Given the description of an element on the screen output the (x, y) to click on. 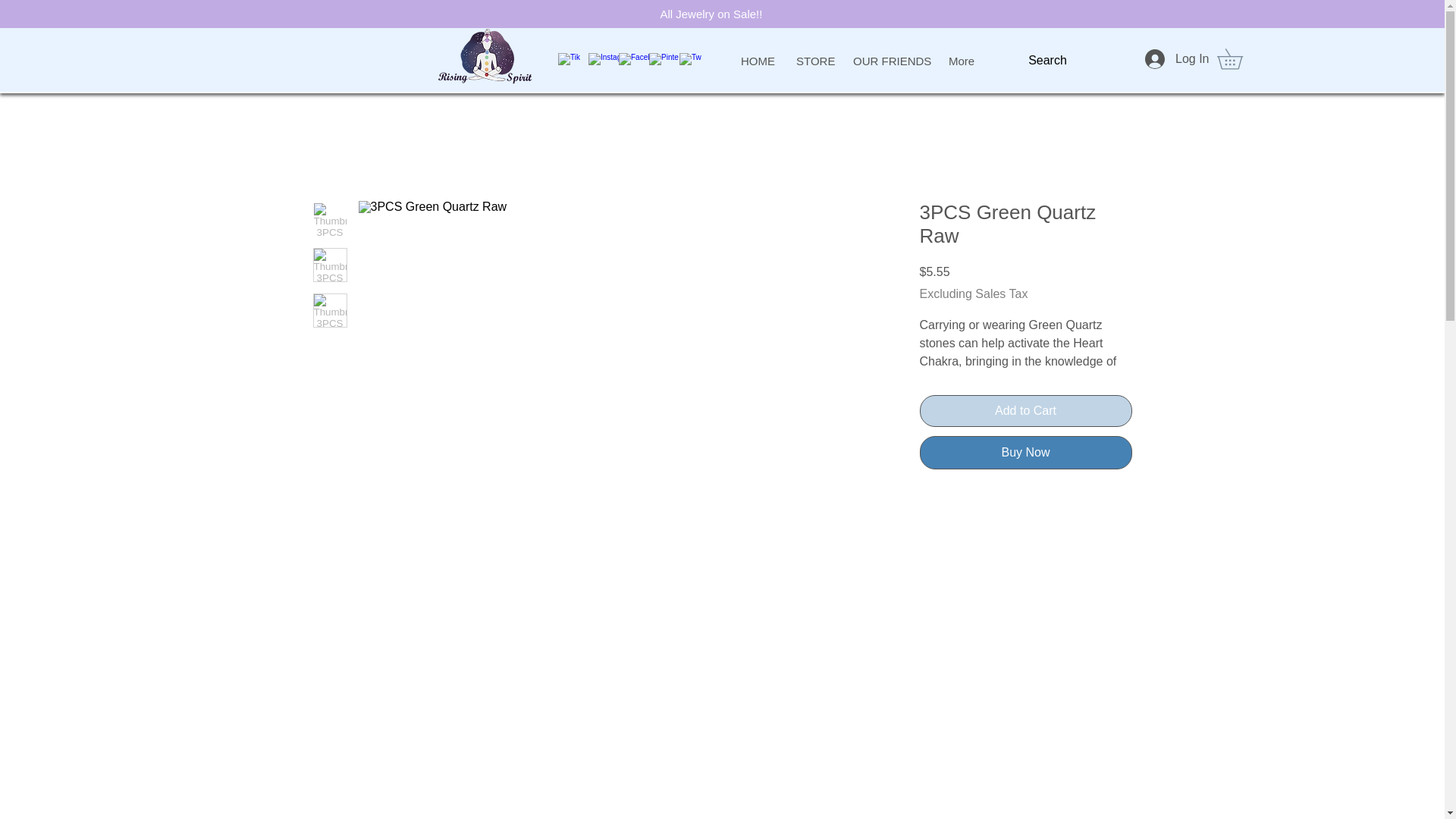
Log In (1168, 59)
Add to Cart (1024, 410)
Search (1047, 59)
OUR FRIENDS (891, 54)
Buy Now (1024, 452)
